Given the description of an element on the screen output the (x, y) to click on. 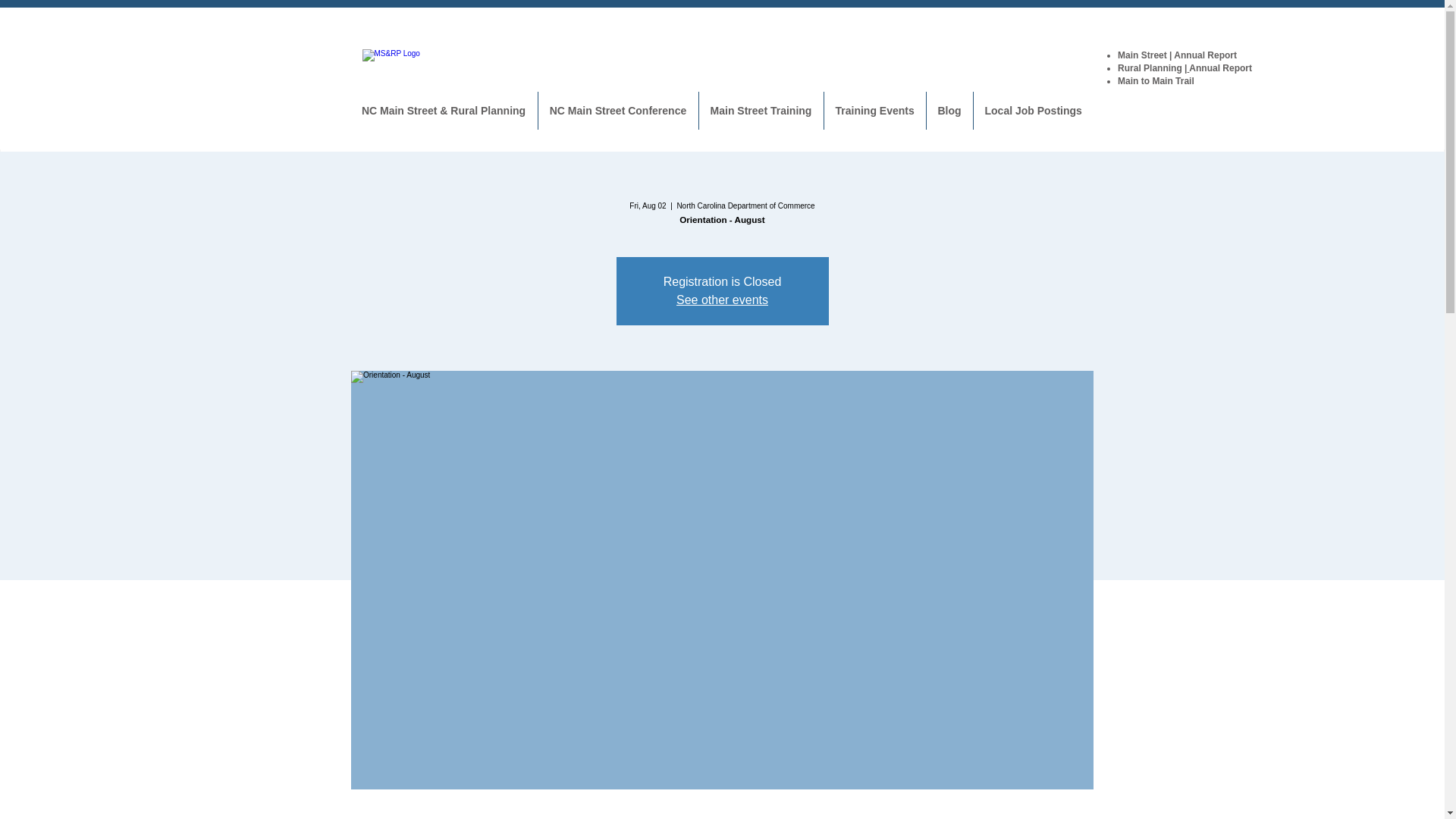
Annual Report (1220, 68)
See other events (722, 299)
Main Street Training (761, 110)
NC Main Street Conference (618, 110)
Annual Report (1204, 54)
Local Job Postings (1033, 110)
Training Events (874, 110)
Main to Main Trail (1155, 81)
Blog (949, 110)
